Given the description of an element on the screen output the (x, y) to click on. 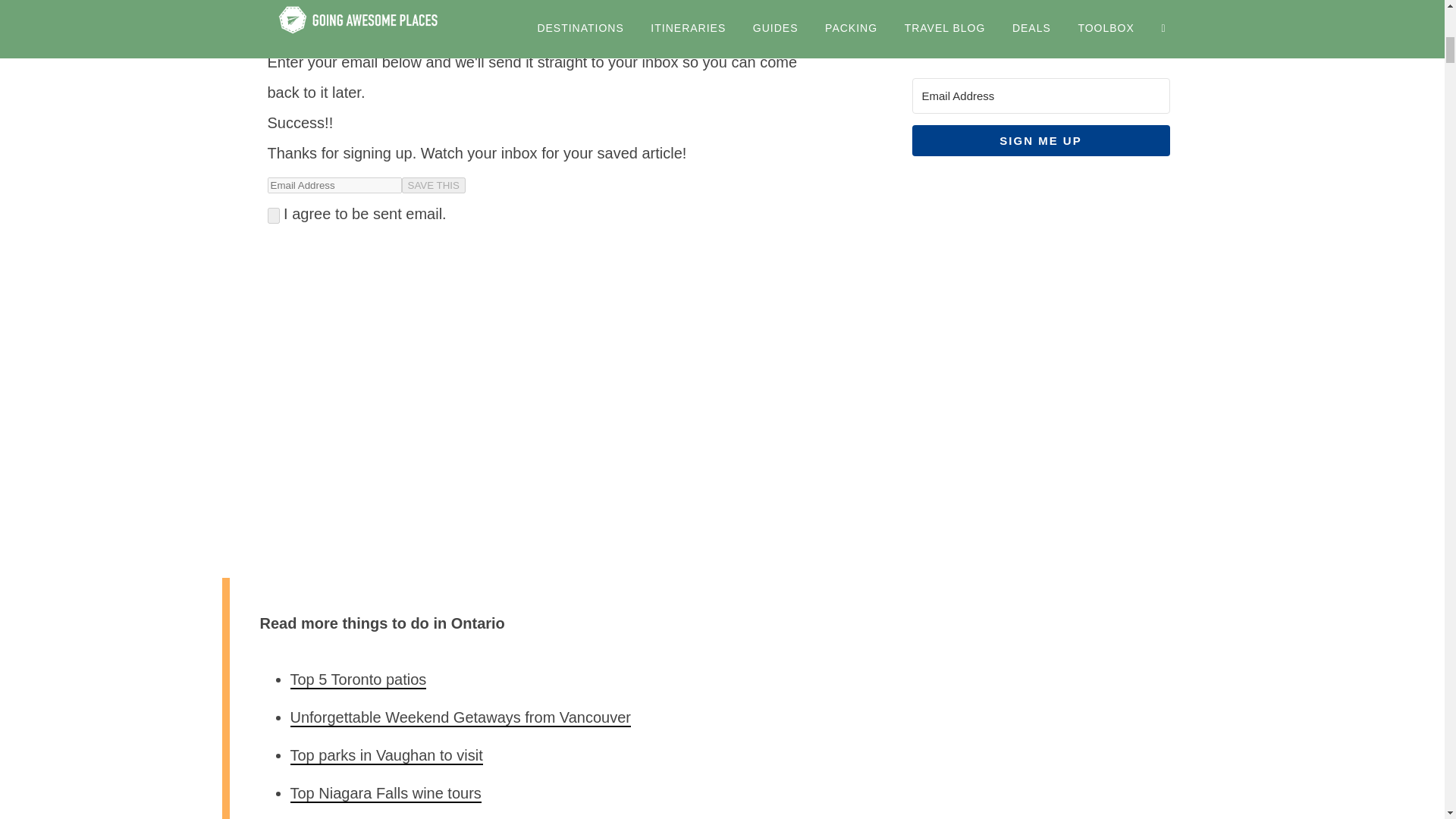
Everything I Use To Travel - My Toolbox (1040, 565)
Top 5 Toronto patios (357, 679)
Where Do You Want To Go? (1040, 727)
Top parks in Vaughan to visit (385, 755)
Top Niagara Falls wine tours (384, 792)
Unforgettable Weekend Getaways from Vancouver (459, 717)
